Given the description of an element on the screen output the (x, y) to click on. 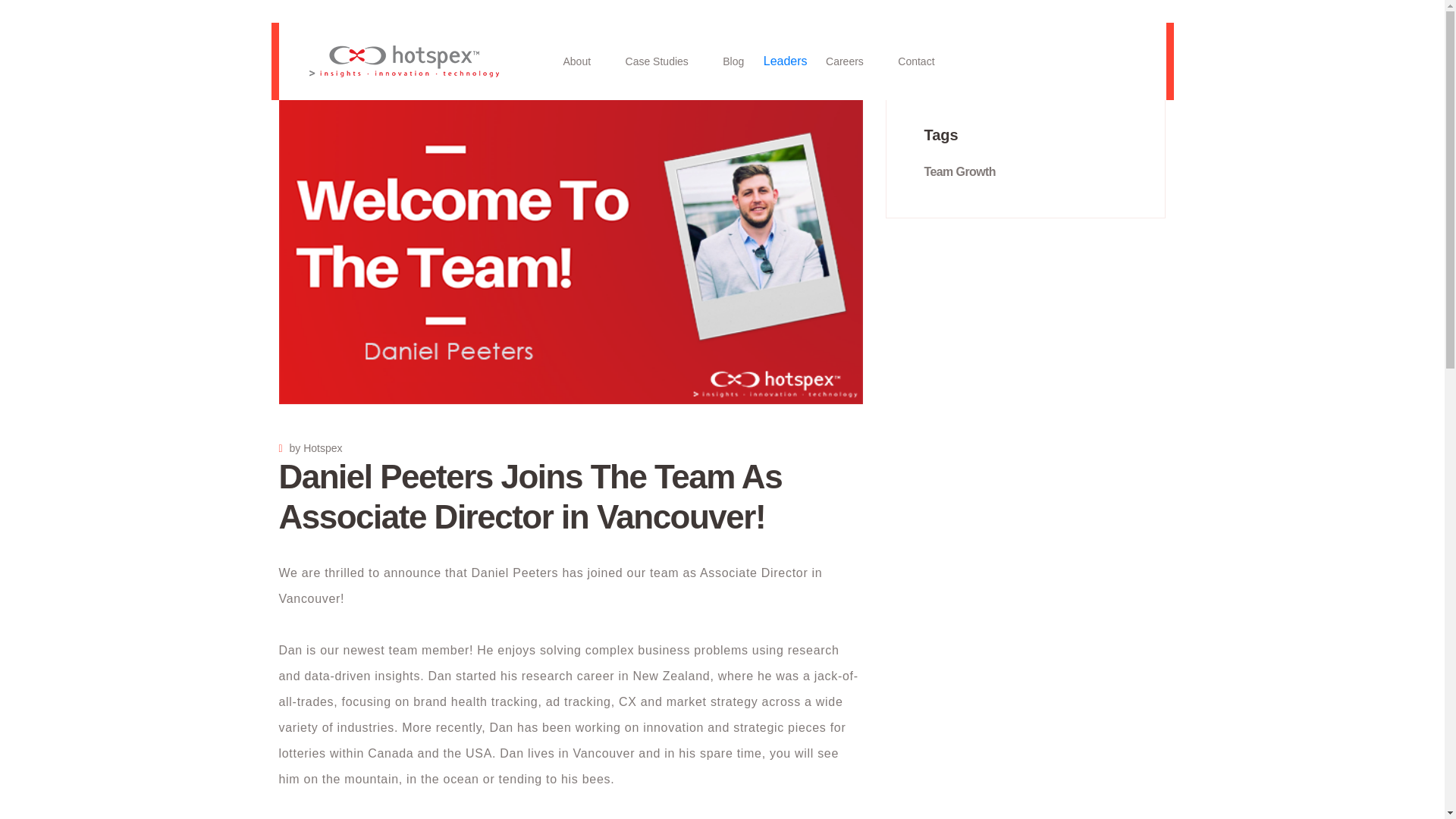
Team Growth (958, 171)
by Hotspex (310, 448)
Leaders (785, 61)
